Given the description of an element on the screen output the (x, y) to click on. 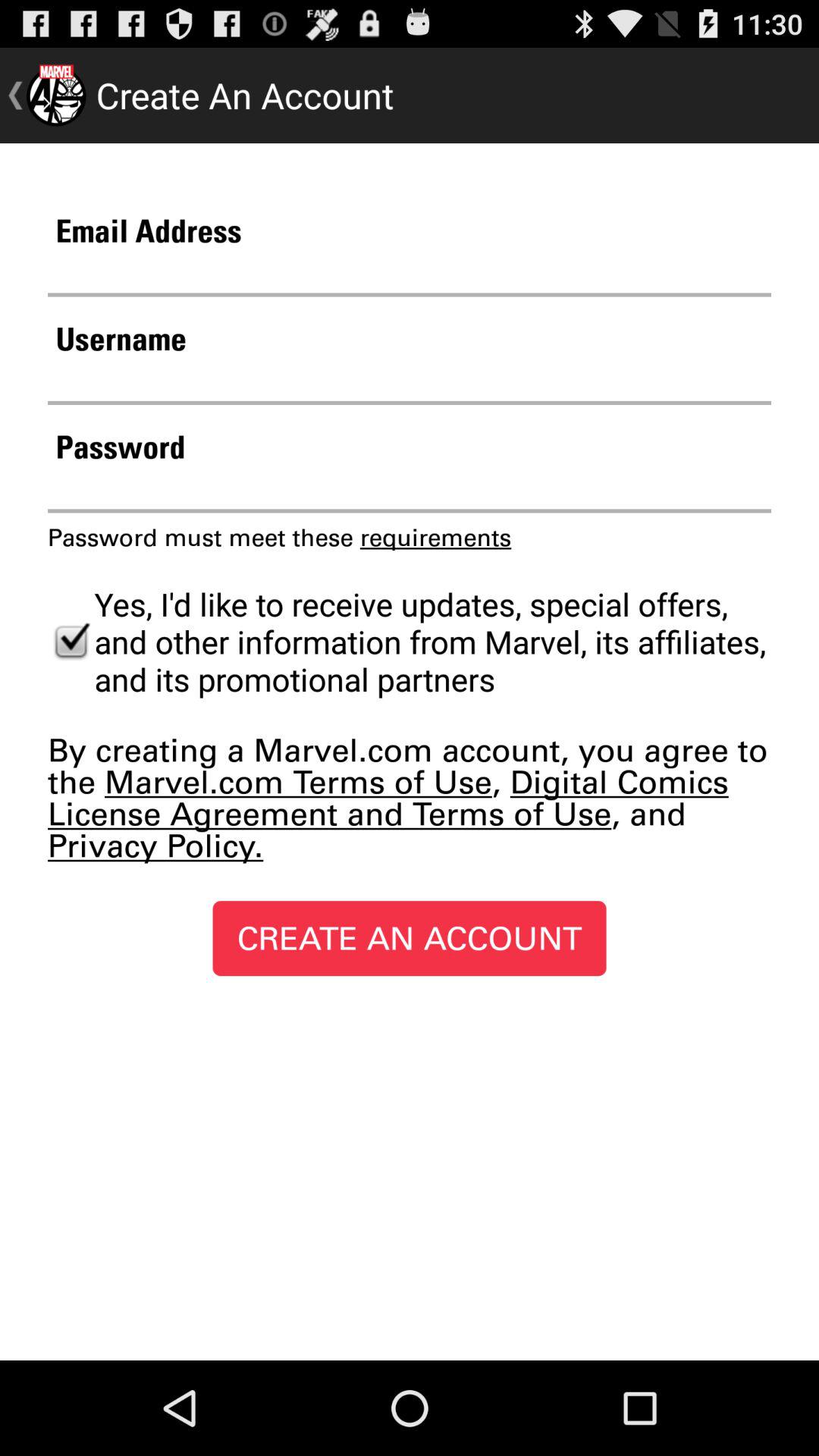
text box (409, 381)
